Given the description of an element on the screen output the (x, y) to click on. 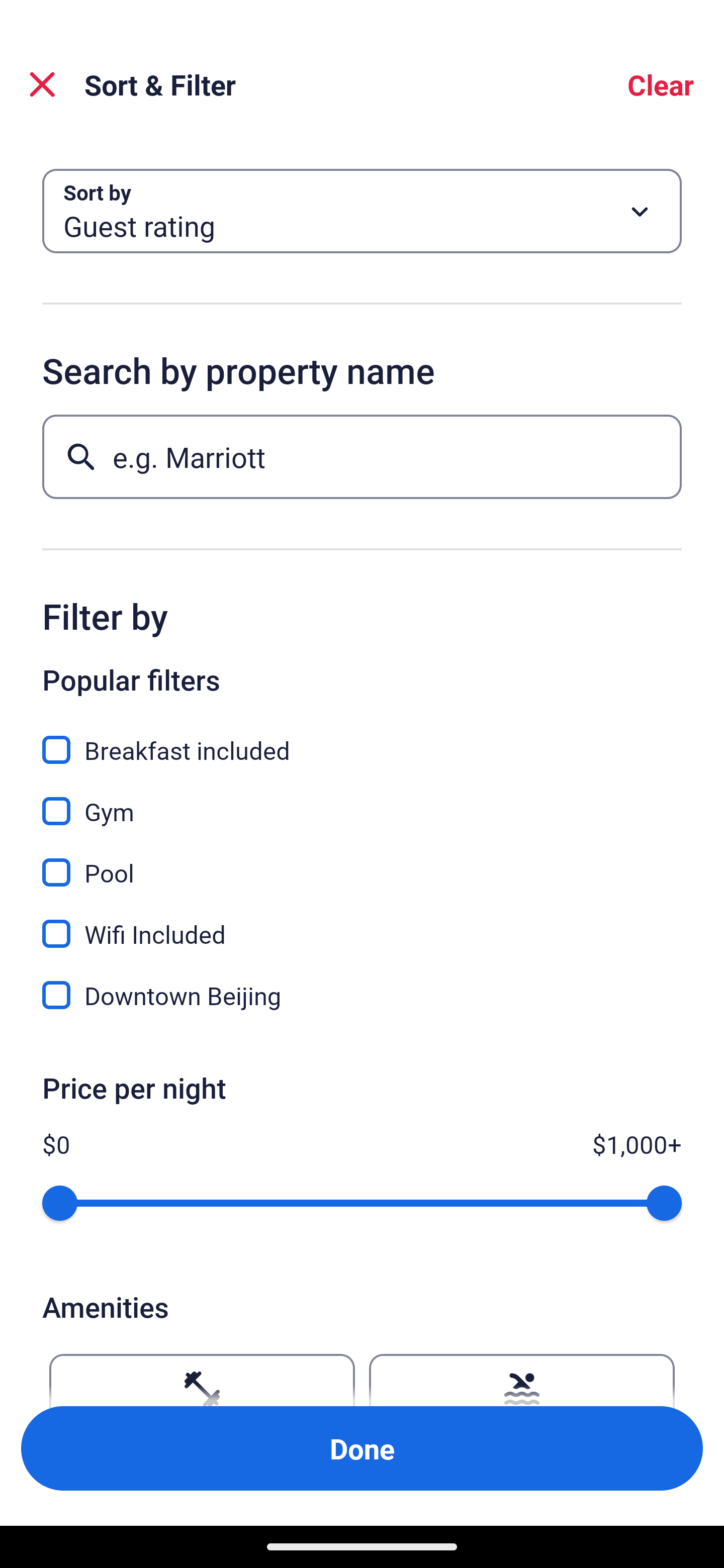
Close Sort and Filter (42, 84)
Clear (660, 84)
Sort by Button Guest rating (361, 211)
e.g. Marriott Button (361, 455)
Breakfast included, Breakfast included (361, 738)
Gym, Gym (361, 800)
Pool, Pool (361, 861)
Wifi Included, Wifi Included (361, 922)
Downtown Beijing, Downtown Beijing (361, 995)
Apply and close Sort and Filter Done (361, 1448)
